Given the description of an element on the screen output the (x, y) to click on. 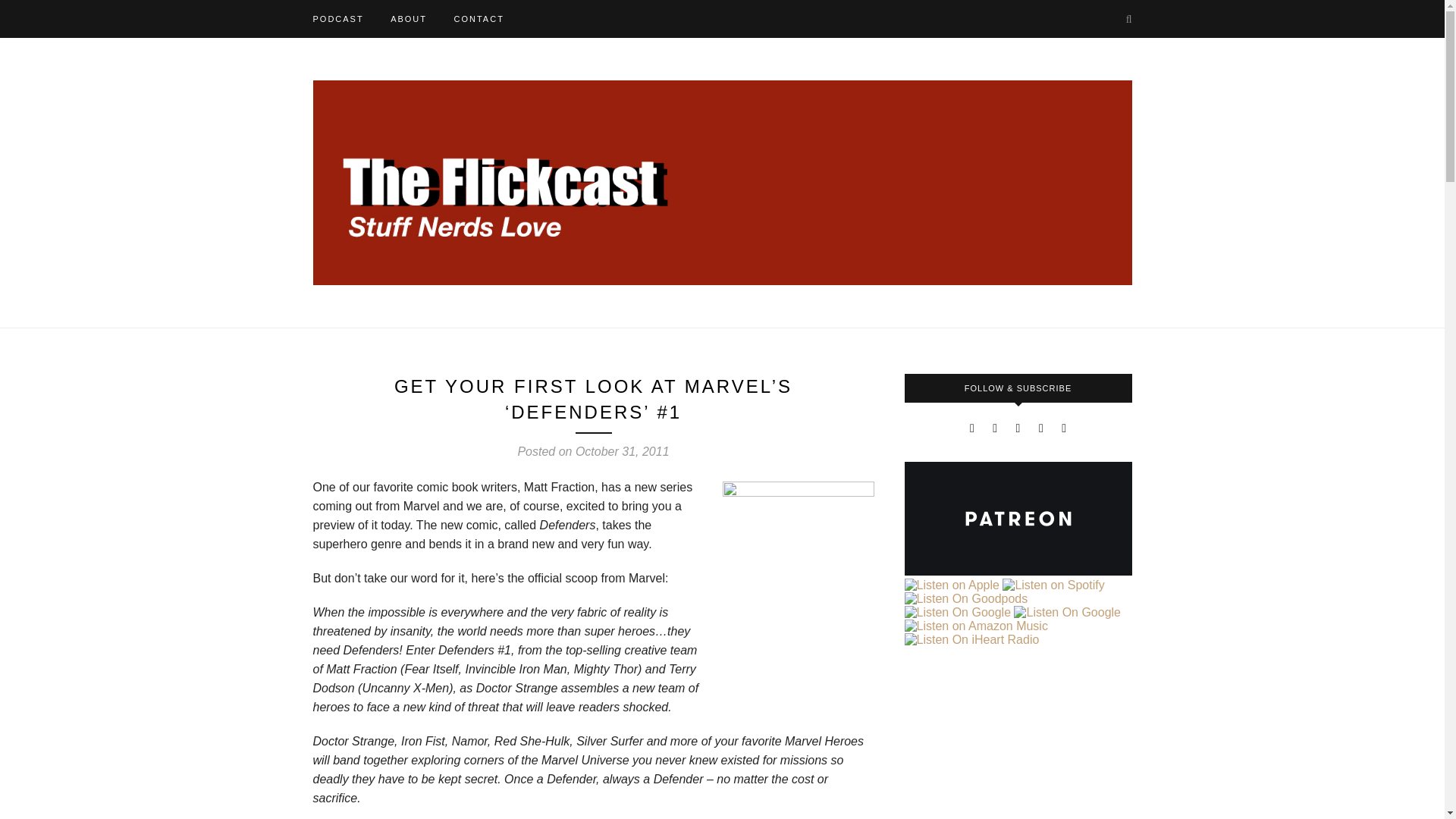
PODCAST (337, 18)
CONTACT (477, 18)
ABOUT (408, 18)
